Given the description of an element on the screen output the (x, y) to click on. 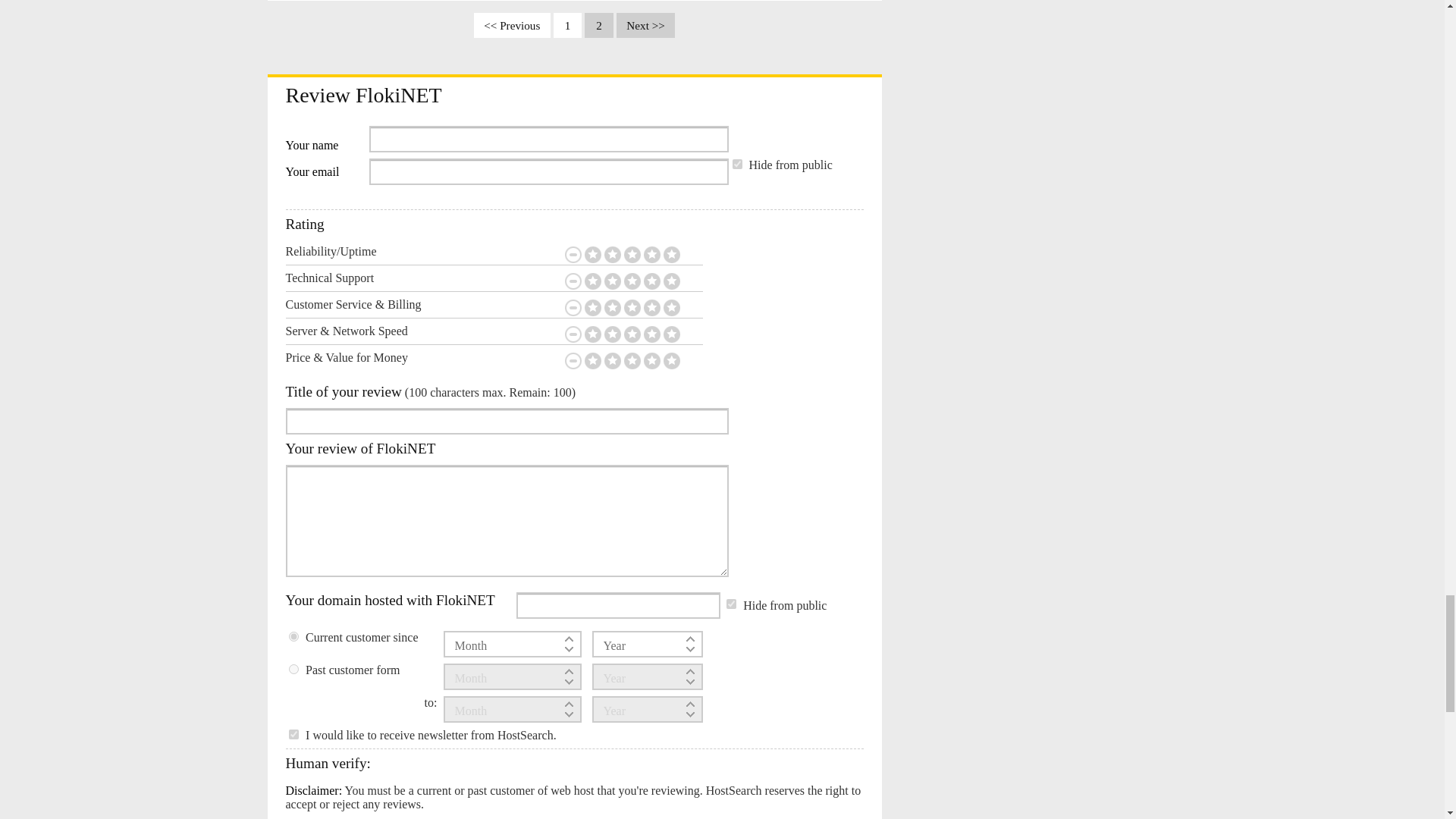
Worst (591, 280)
1 (293, 636)
Bad (612, 254)
Good (651, 254)
Worst (591, 254)
1 (731, 603)
1 (737, 163)
Best (670, 254)
OK (631, 280)
OK (631, 254)
0 (293, 669)
1 (293, 734)
Bad (612, 280)
